Given the description of an element on the screen output the (x, y) to click on. 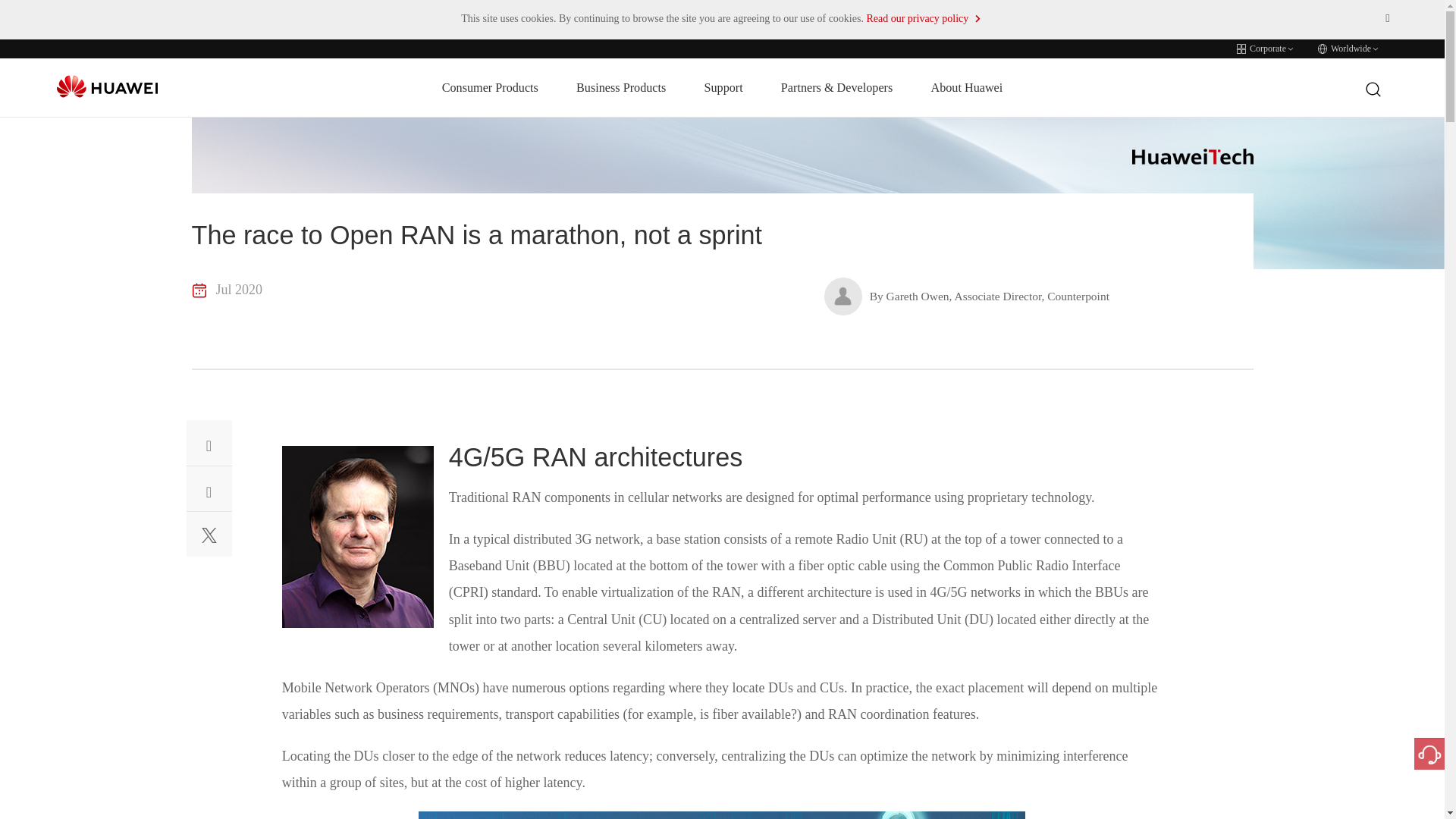
Corporate (1265, 48)
Worldwide (1348, 48)
Read our privacy policy (924, 18)
close (1387, 17)
twitter (209, 538)
